Given the description of an element on the screen output the (x, y) to click on. 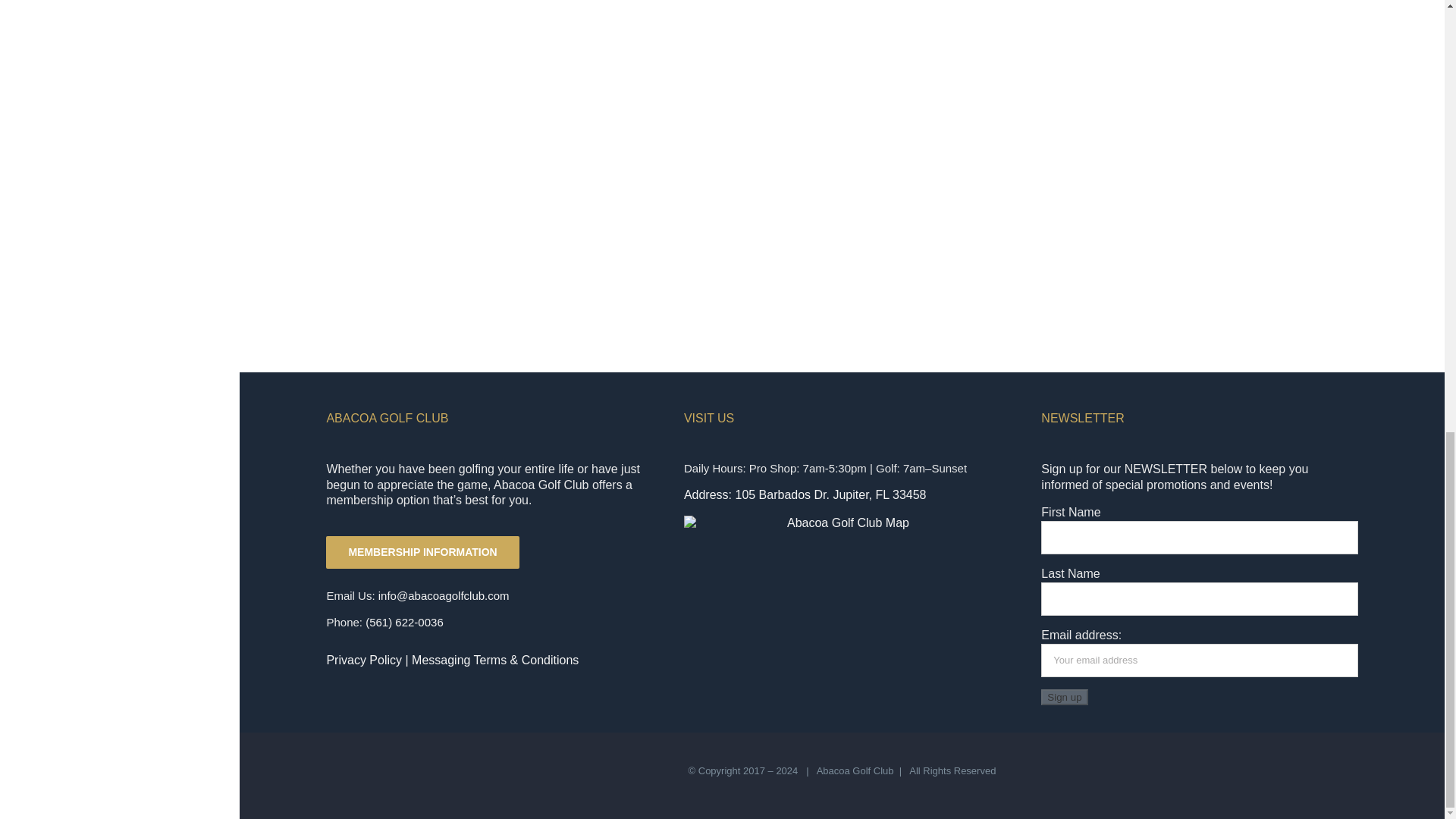
Sign up (1064, 697)
